Given the description of an element on the screen output the (x, y) to click on. 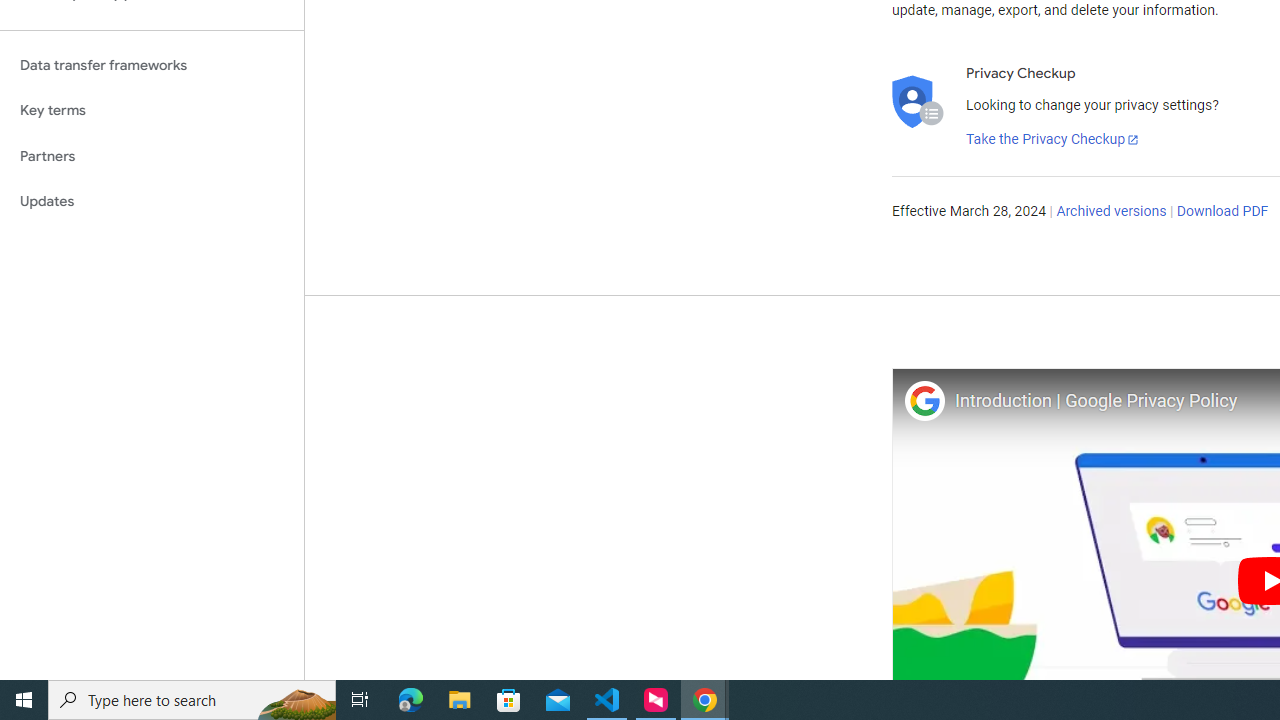
Take the Privacy Checkup (1053, 140)
Download PDF (1222, 212)
Key terms (152, 110)
Updates (152, 201)
Archived versions (1111, 212)
Photo image of Google (924, 400)
Data transfer frameworks (152, 65)
Partners (152, 156)
